Given the description of an element on the screen output the (x, y) to click on. 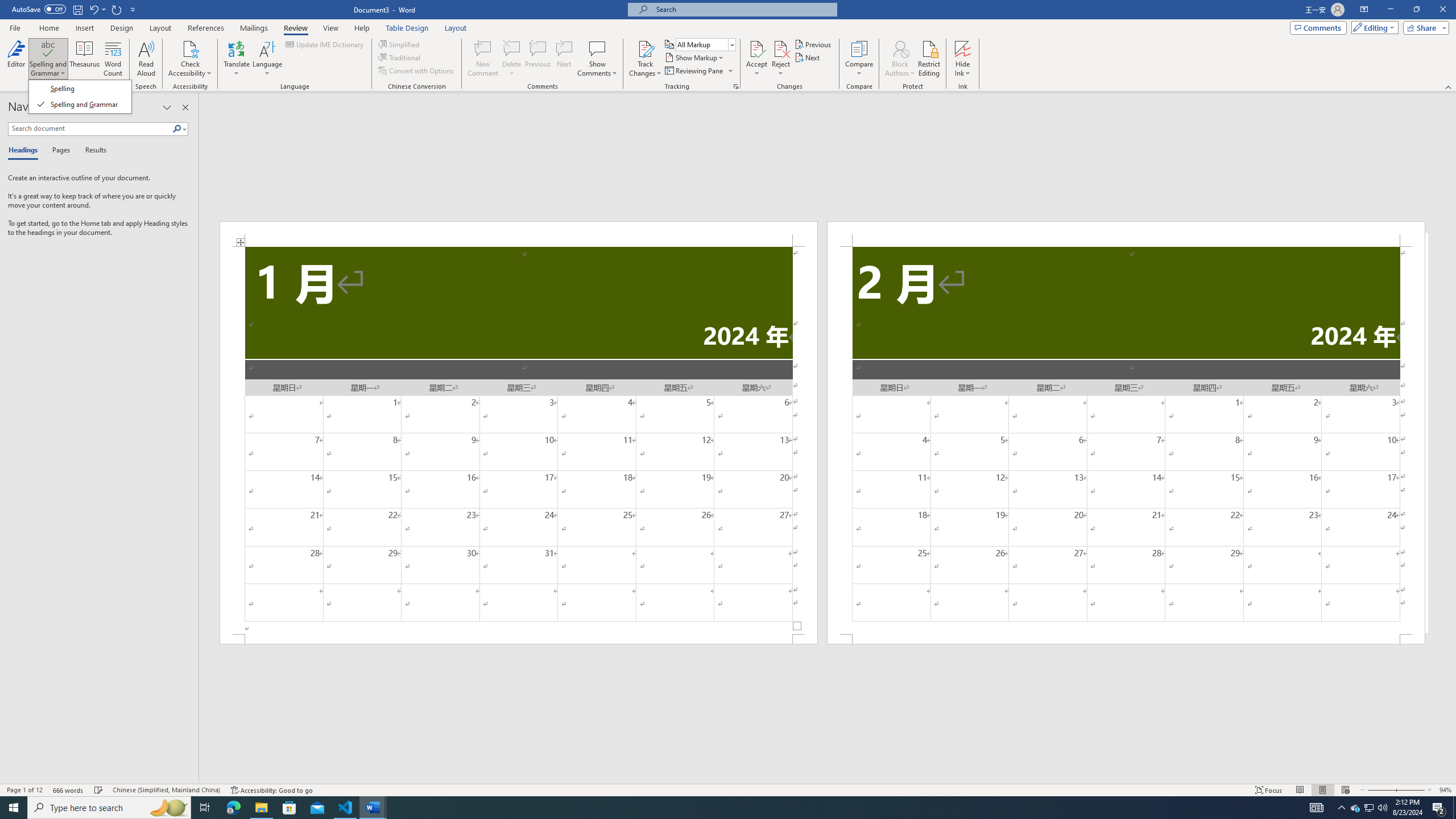
Block Authors (900, 48)
Block Authors (900, 58)
Compare (859, 58)
Track Changes (644, 48)
Footer -Section 2- (1126, 638)
Restrict Editing (929, 58)
Display for Review (705, 44)
